Given the description of an element on the screen output the (x, y) to click on. 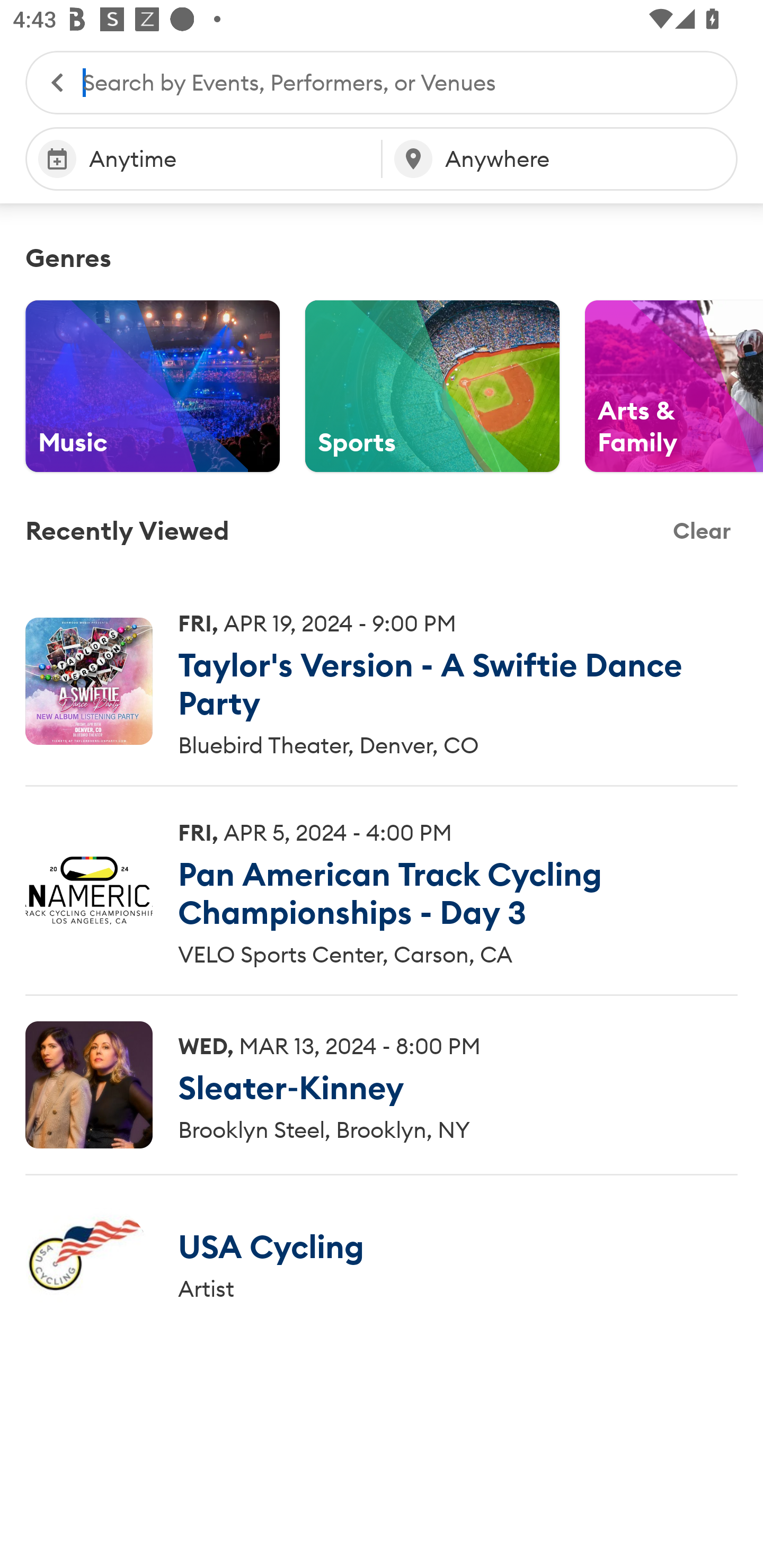
BackButton (47, 81)
Anytime (203, 158)
Anywhere (559, 158)
Music (152, 386)
Sports (432, 386)
Arts & Family (674, 386)
Clear (701, 531)
USA Cycling Artist (381, 1264)
